Given the description of an element on the screen output the (x, y) to click on. 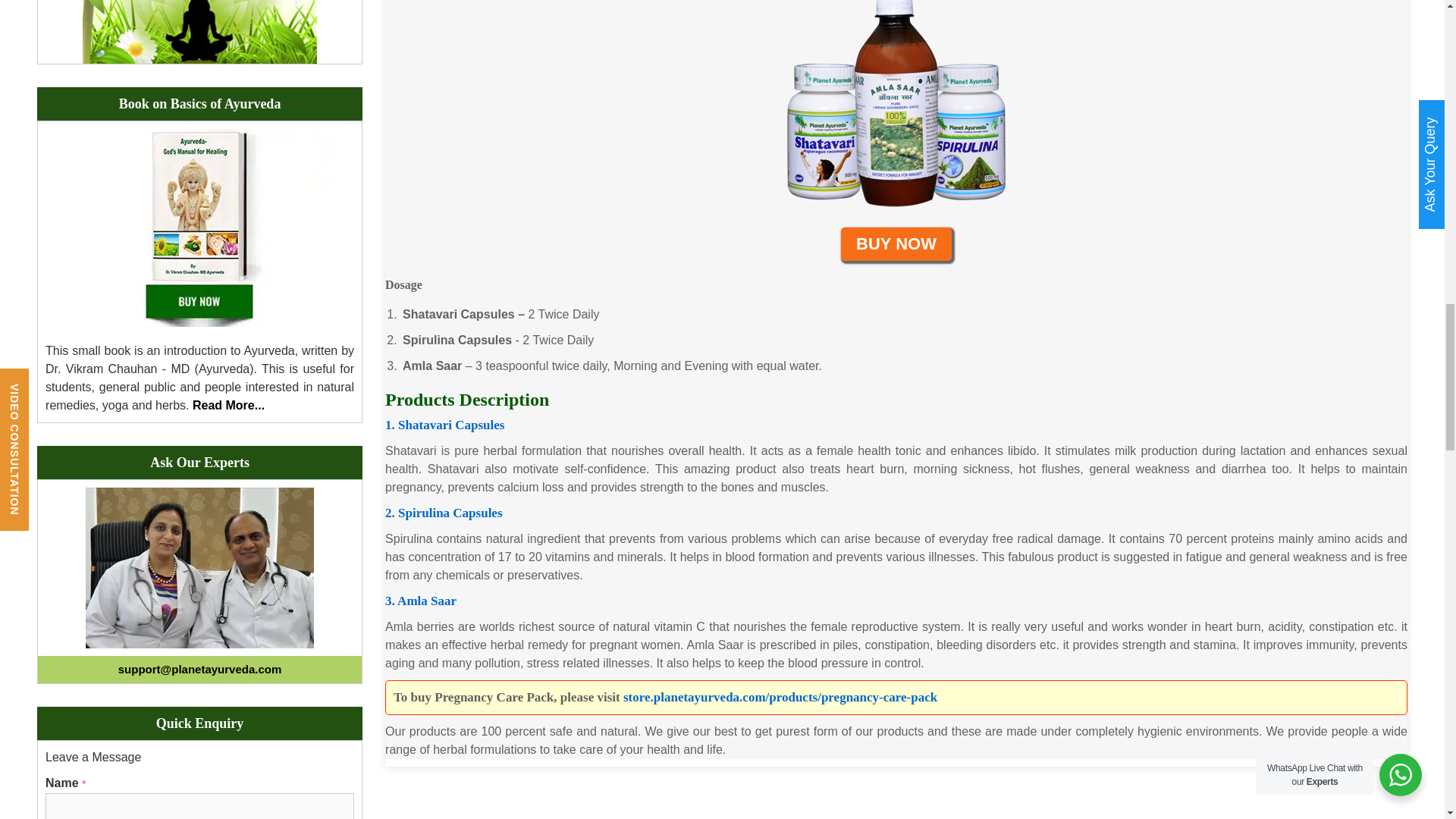
Pregnancy Care Pack (895, 110)
Why Planet Ayurveda? (199, 31)
